Given the description of an element on the screen output the (x, y) to click on. 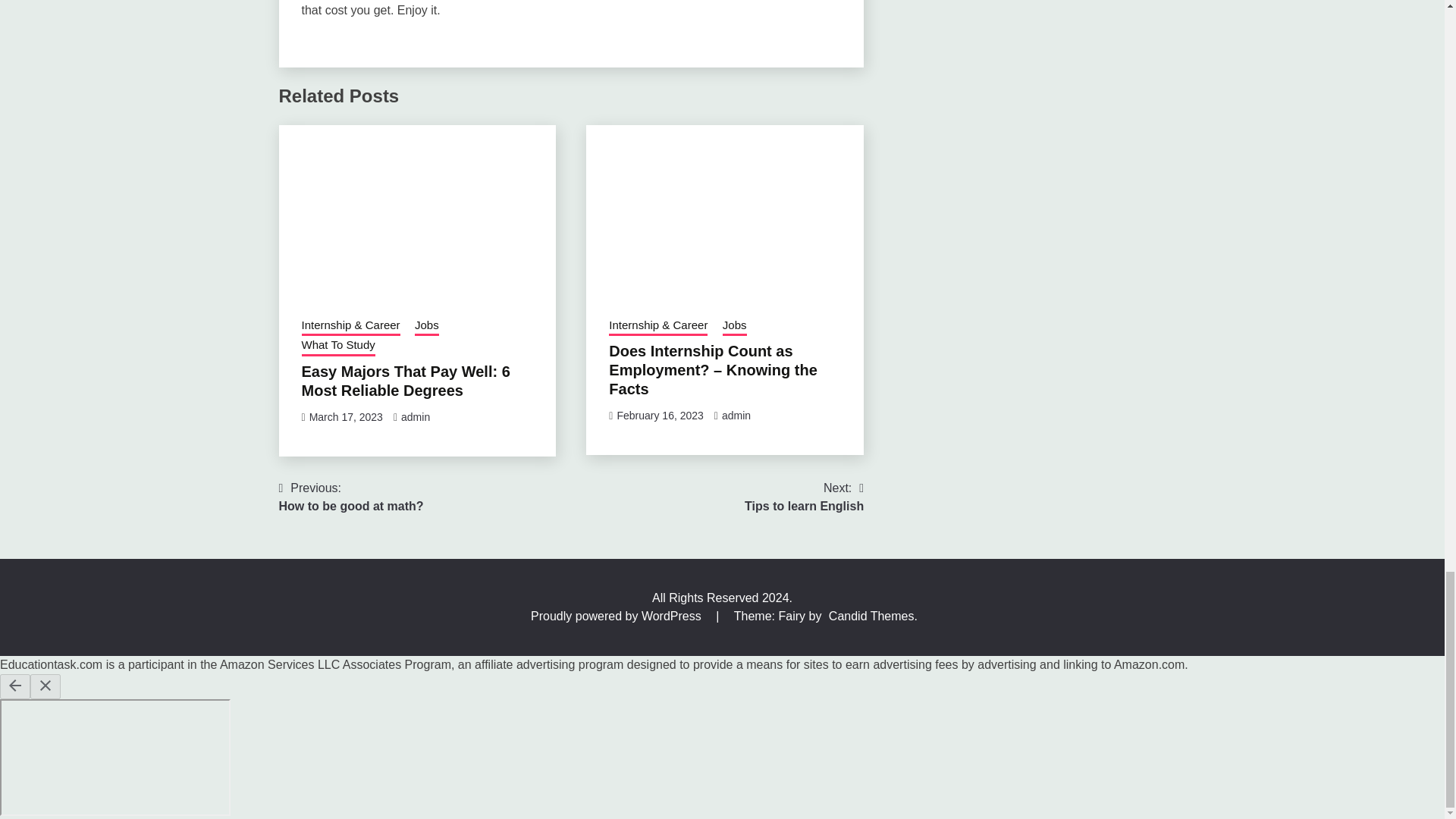
February 16, 2023 (659, 415)
What To Study (338, 346)
admin (736, 415)
Easy Majors That Pay Well: 6 Most Reliable Degrees (406, 380)
March 17, 2023 (345, 417)
Jobs (351, 497)
Jobs (426, 326)
admin (734, 326)
